Given the description of an element on the screen output the (x, y) to click on. 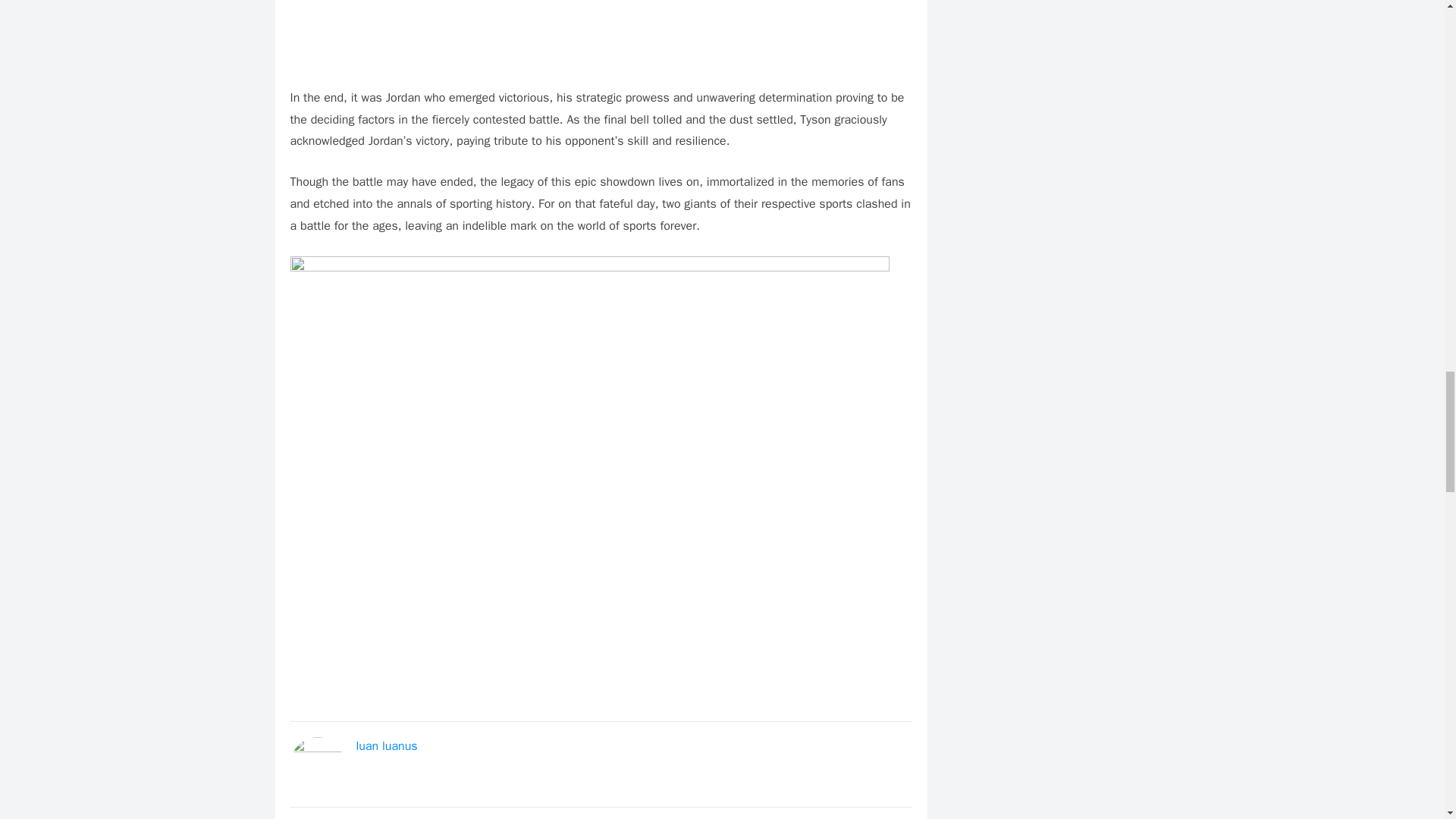
luan luanus (386, 745)
